Given the description of an element on the screen output the (x, y) to click on. 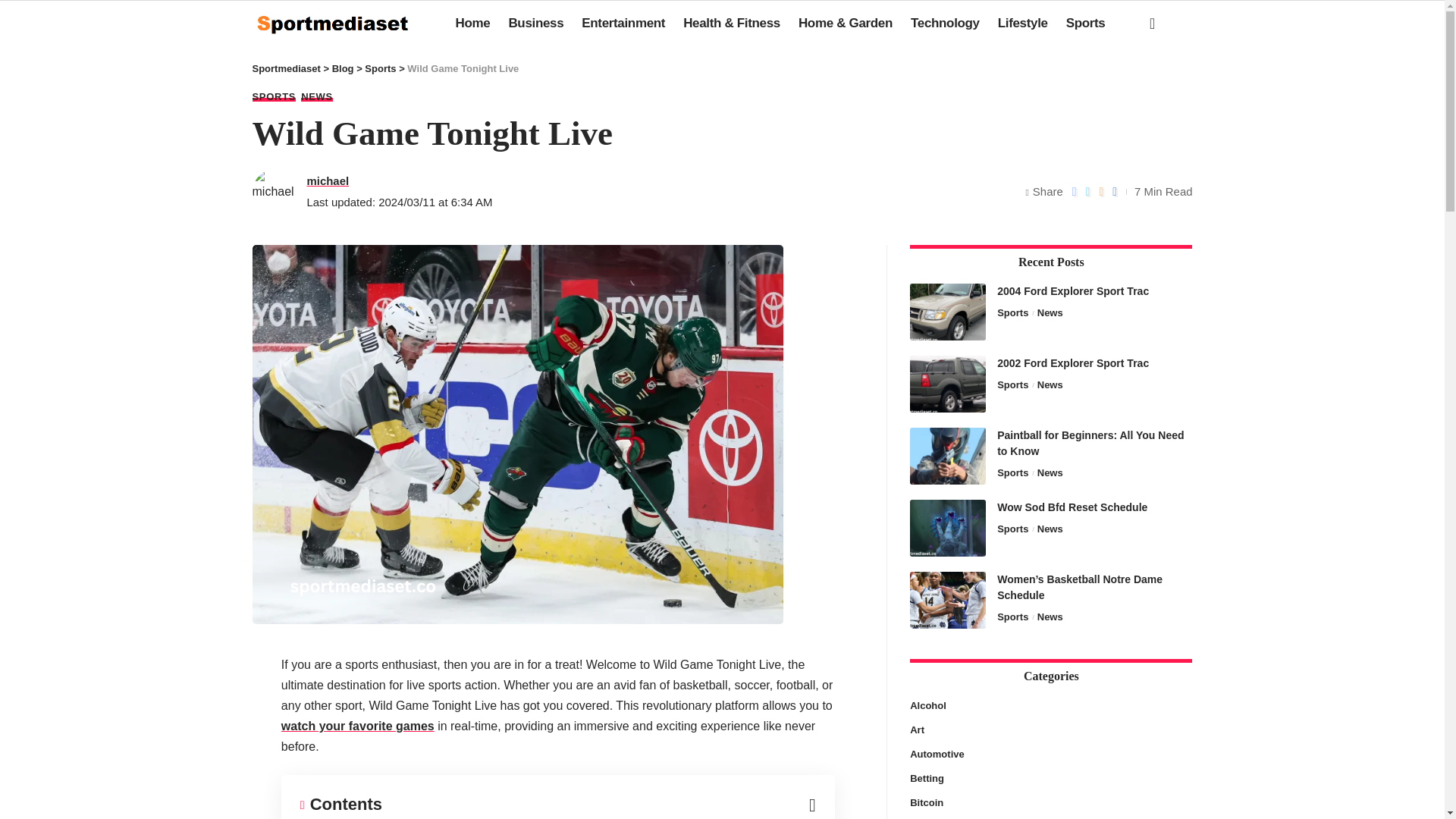
2004 Ford Explorer Sport Trac (947, 311)
NEWS (317, 95)
Go to Blog. (342, 68)
watch your favorite games (357, 725)
Business (535, 22)
Paintball for Beginners: All You Need to Know (947, 455)
michael (327, 180)
Entertainment (623, 22)
Wow Sod Bfd Reset Schedule (947, 527)
Sports (1086, 22)
